Given the description of an element on the screen output the (x, y) to click on. 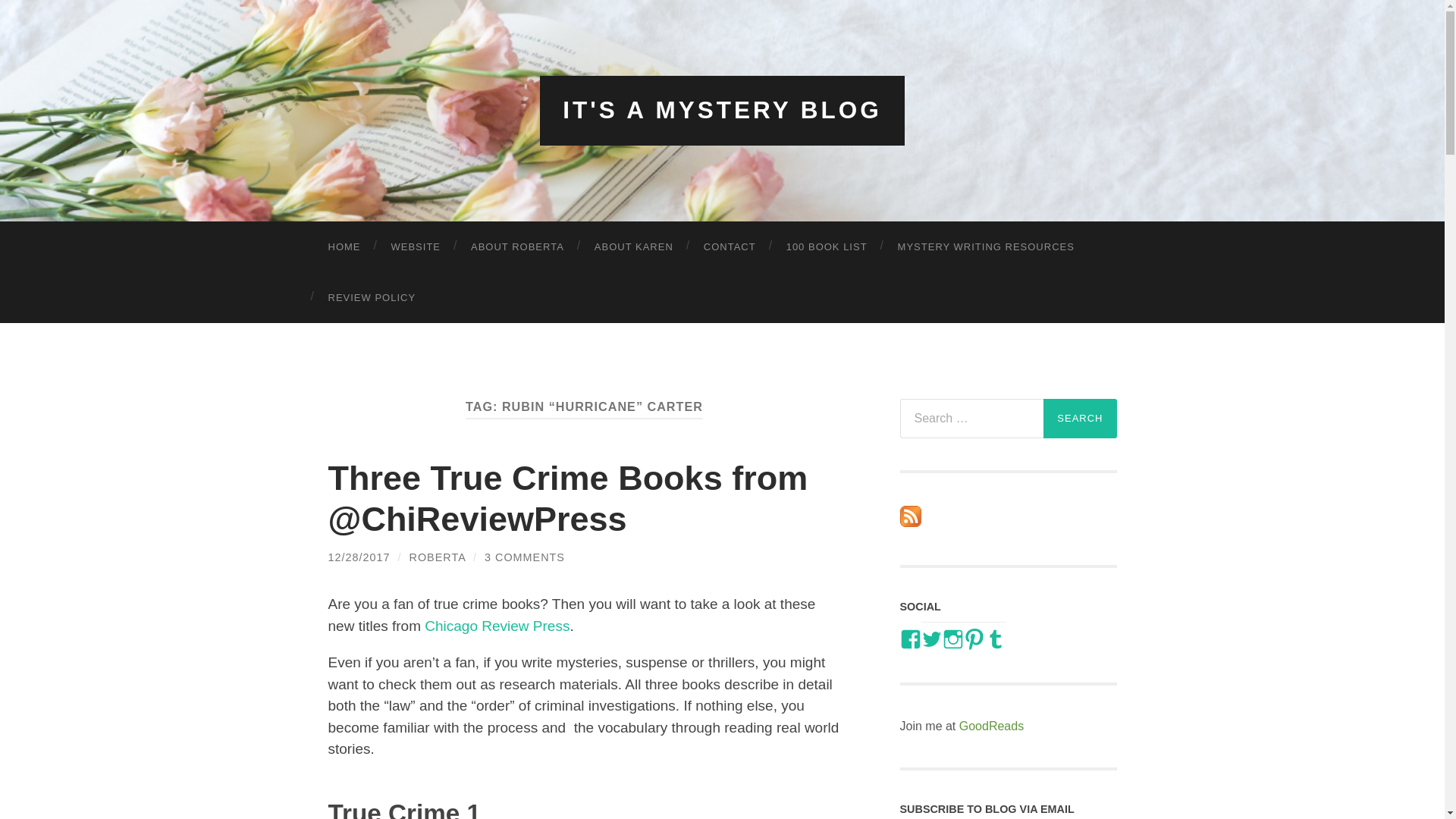
WEBSITE (416, 246)
HOME (344, 246)
CONTACT (729, 246)
Posts by Roberta (437, 557)
ROBERTA (437, 557)
100 BOOK LIST (826, 246)
REVIEW POLICY (371, 296)
Chicago Review Press (497, 625)
MYSTERY WRITING RESOURCES (985, 246)
Search (1079, 418)
3 COMMENTS (524, 557)
Search (1079, 418)
Search (1079, 418)
ABOUT KAREN (633, 246)
IT'S A MYSTERY BLOG (722, 109)
